Given the description of an element on the screen output the (x, y) to click on. 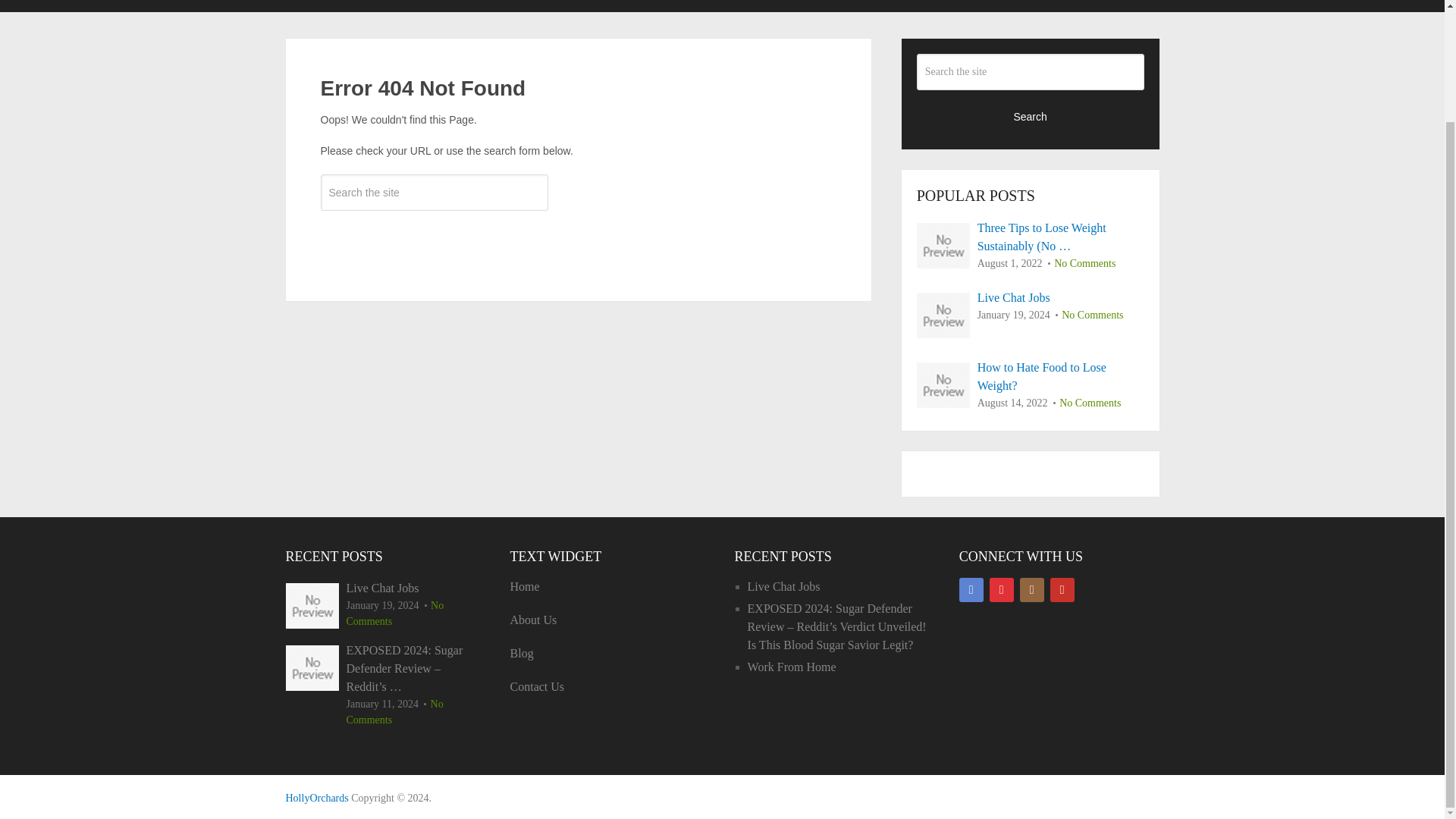
Facebook (971, 589)
Instagram (1031, 589)
MISCELLANEOUS (786, 6)
 Health and Fitness (316, 797)
Search (433, 236)
Pinterest (1001, 589)
YOGA (1121, 6)
BEAUTY (351, 6)
YouTube (1061, 589)
Search (1030, 115)
DIABETES (445, 6)
How to Hate Food to Lose Weight? (1030, 376)
WEIGHT LOSS (1022, 6)
